Given the description of an element on the screen output the (x, y) to click on. 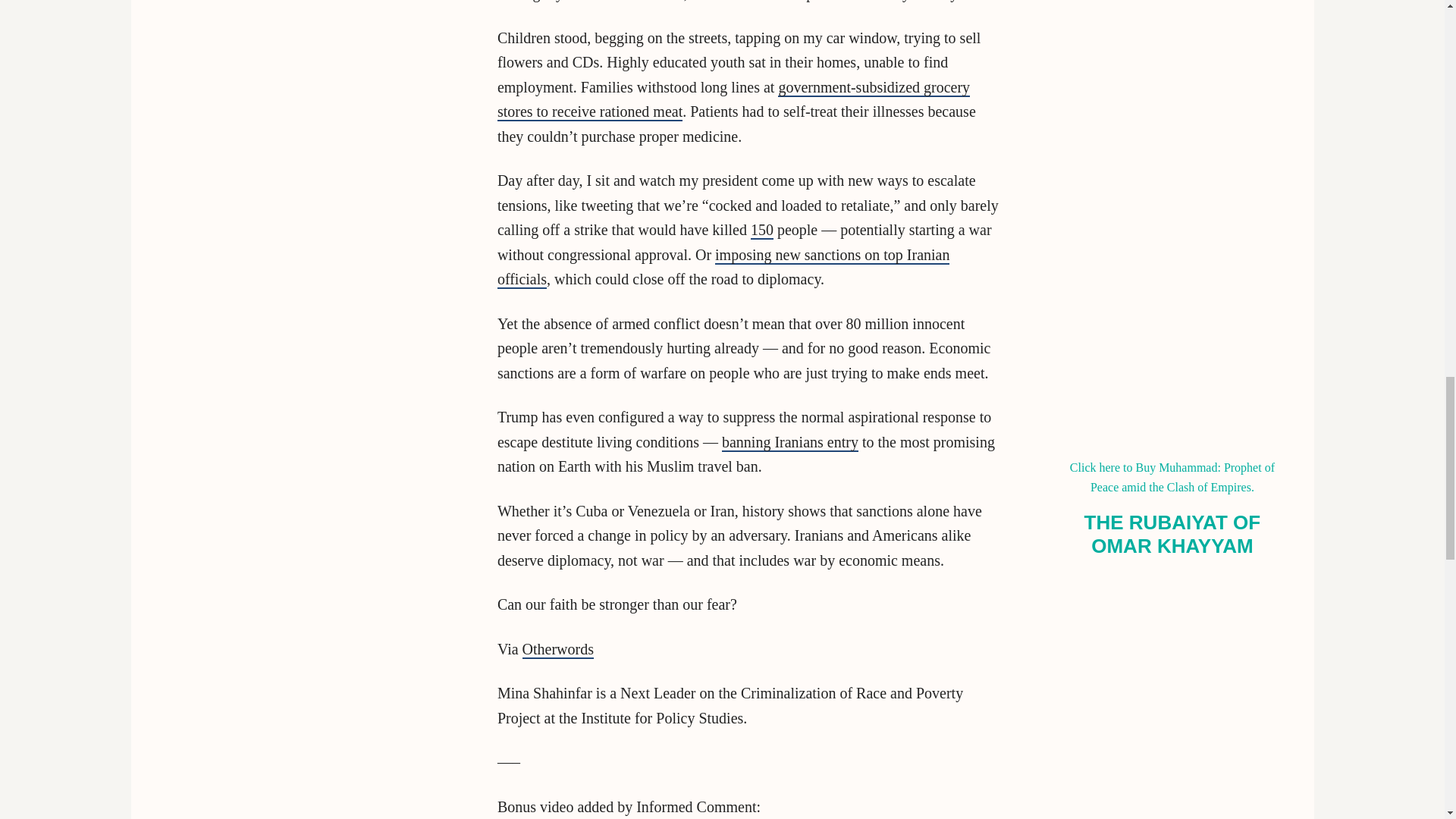
banning Iranians entry (790, 443)
imposing new sanctions on top Iranian officials (723, 267)
Otherwords (558, 649)
150 (762, 230)
